Given the description of an element on the screen output the (x, y) to click on. 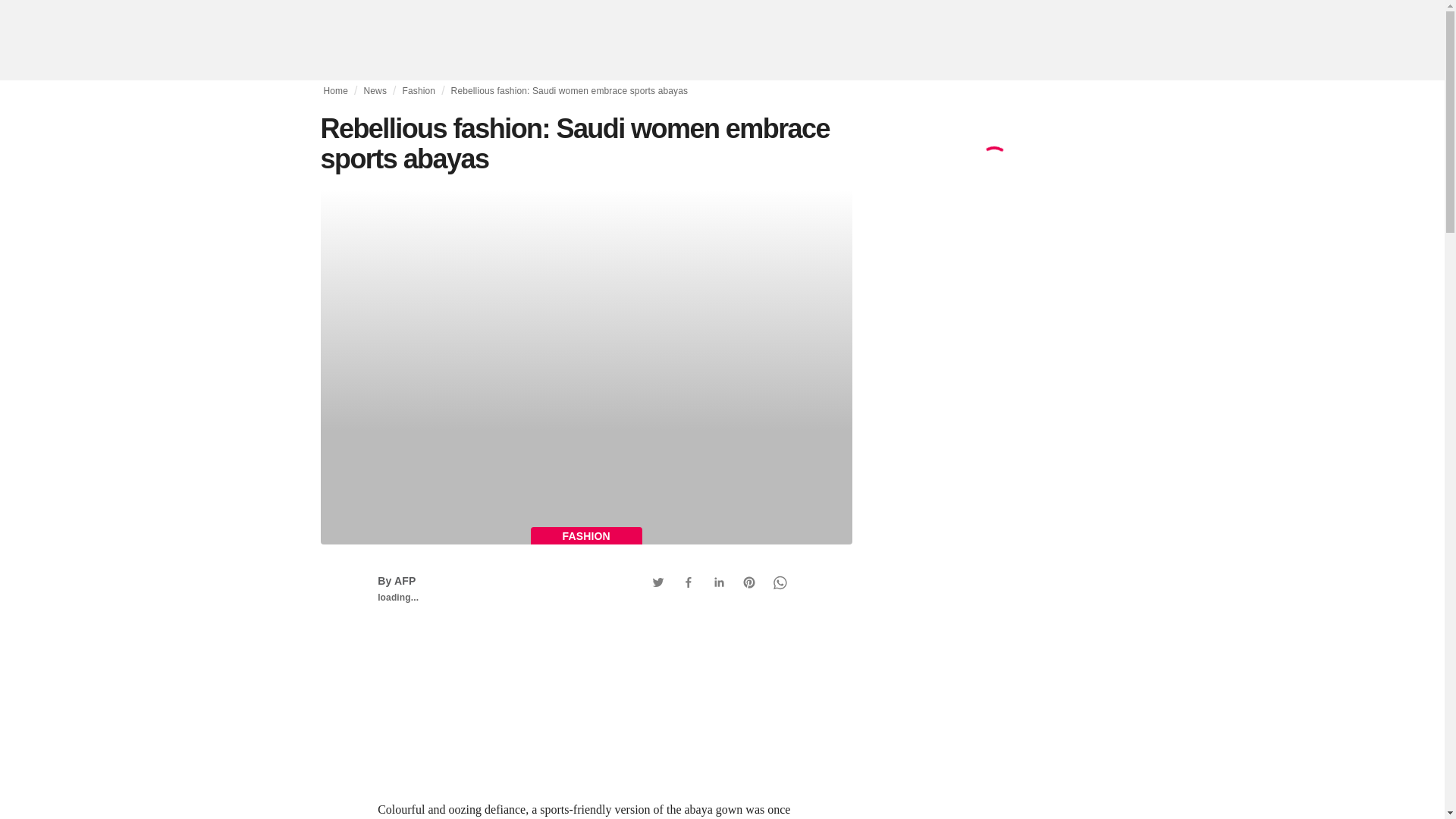
Rebellious fashion: Saudi women embrace sports abayas (569, 90)
Fashion (418, 90)
By AFP (395, 580)
News (375, 90)
Home (335, 90)
